Given the description of an element on the screen output the (x, y) to click on. 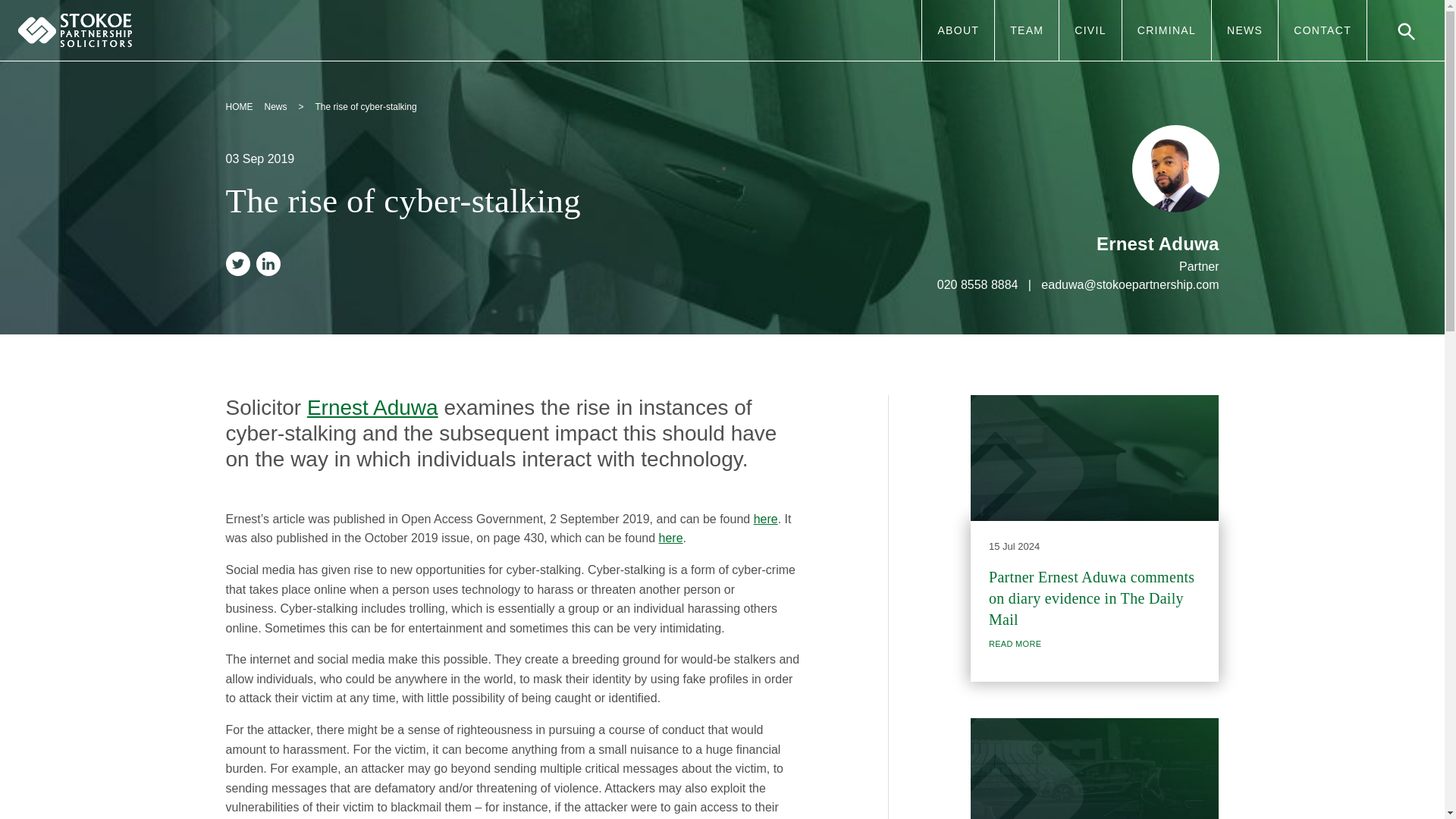
Stokoe Partnership (74, 30)
Twitter (240, 265)
CONTACT (1322, 30)
ABOUT (957, 30)
CIVIL (1089, 30)
TEAM (1026, 30)
Stokoe Partnership (74, 30)
NEWS (1244, 30)
CRIMINAL (1166, 30)
LinkedIn (271, 265)
